Given the description of an element on the screen output the (x, y) to click on. 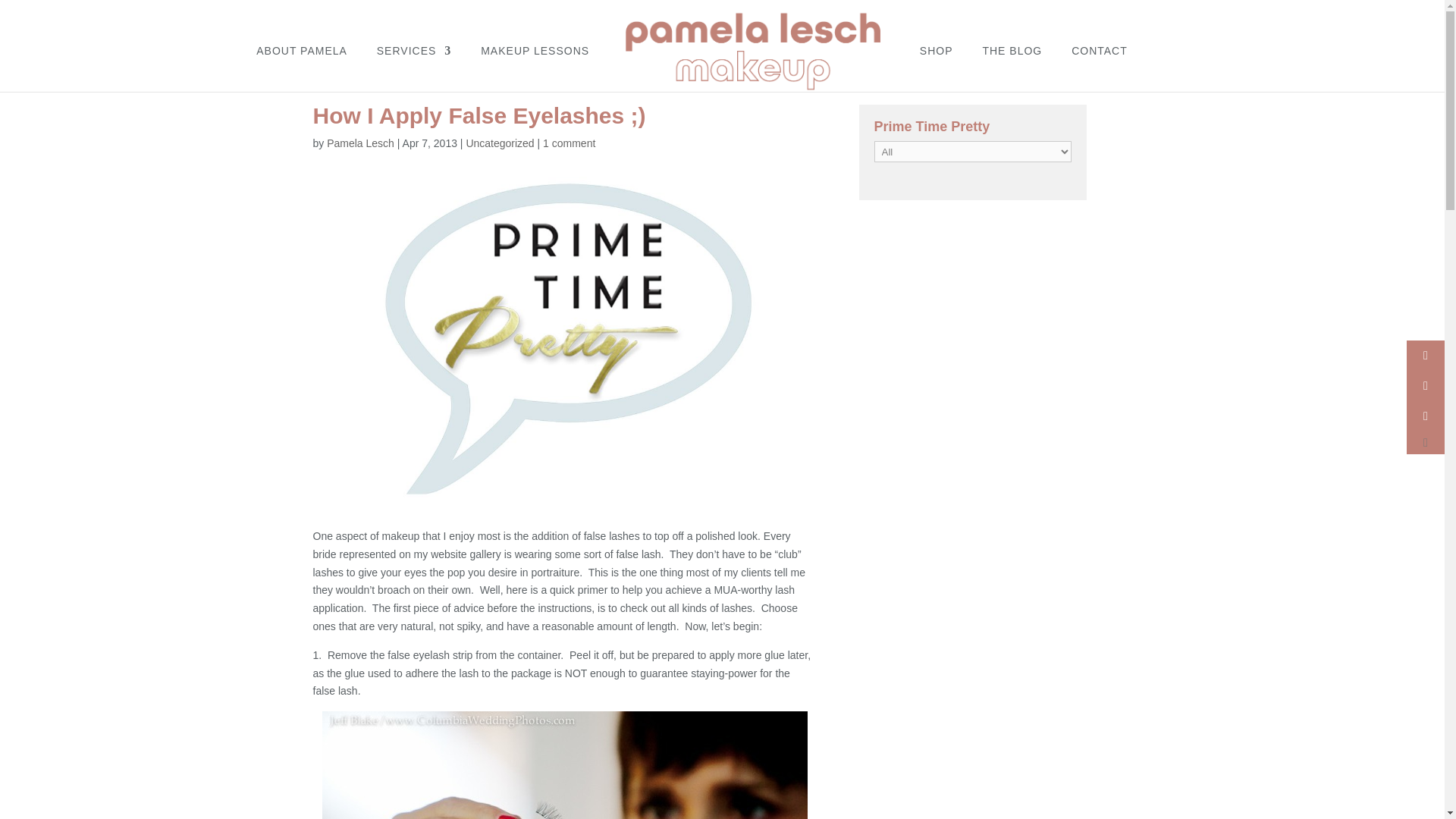
THE BLOG (1011, 68)
Pamela Lesch (360, 143)
Uncategorized (499, 143)
MAKEUP LESSONS (534, 68)
Posts by Pamela Lesch (360, 143)
SERVICES (414, 68)
CONTACT (1098, 68)
ABOUT PAMELA (301, 68)
1 comment (569, 143)
